Given the description of an element on the screen output the (x, y) to click on. 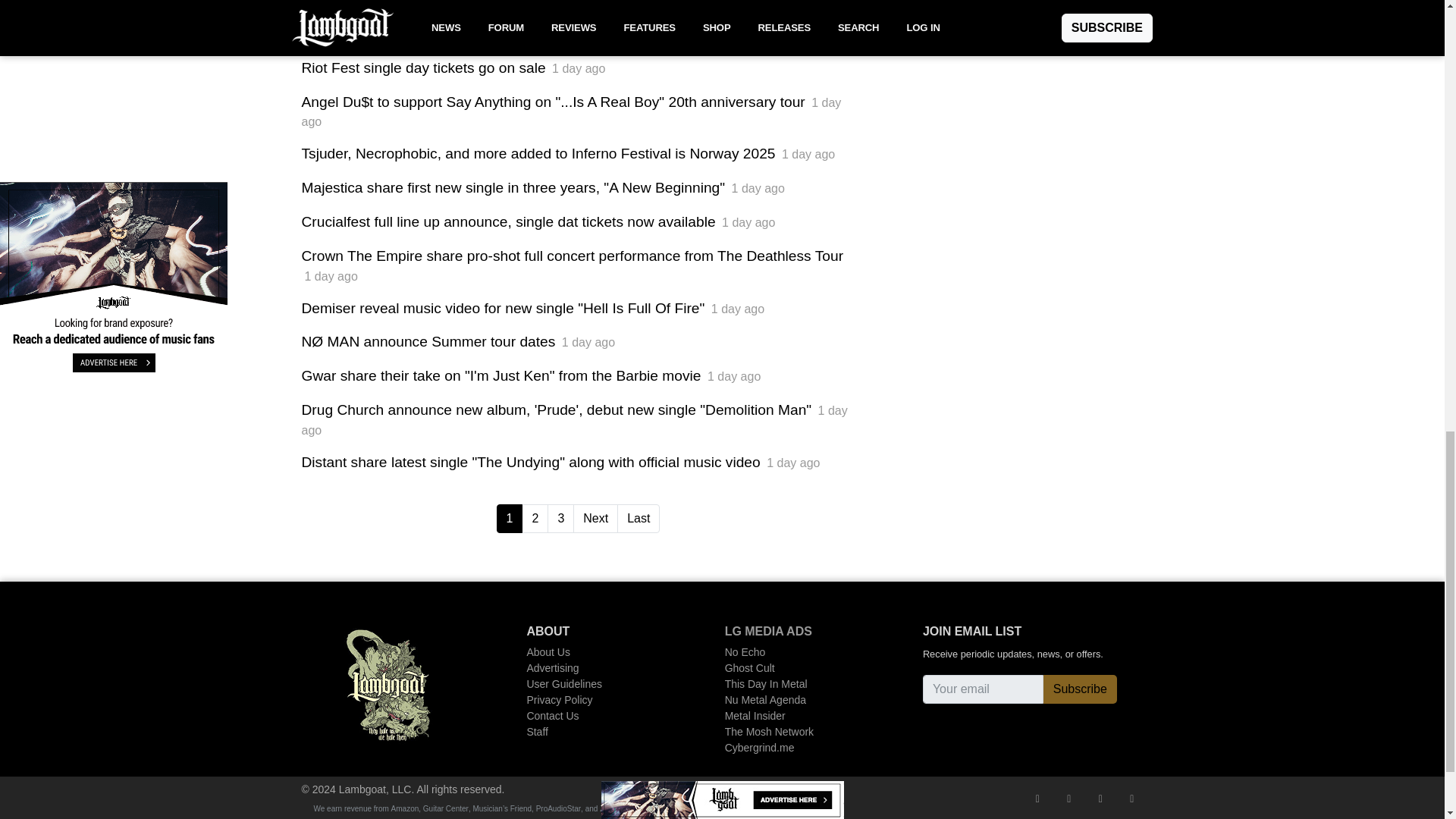
Subscribe (1079, 688)
Riot Fest single day tickets go on sale (423, 67)
